Given the description of an element on the screen output the (x, y) to click on. 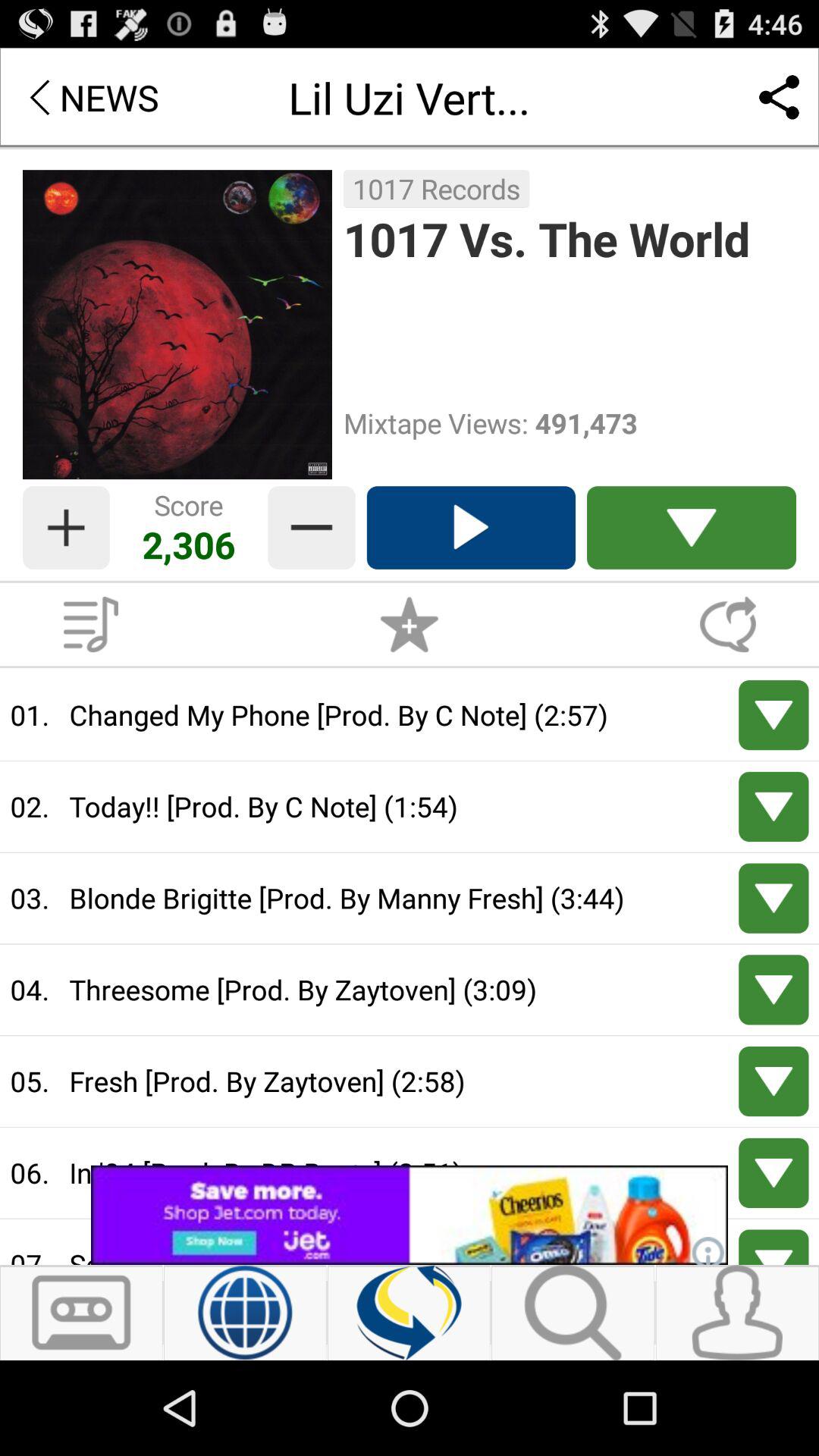
open playlist (91, 624)
